Given the description of an element on the screen output the (x, y) to click on. 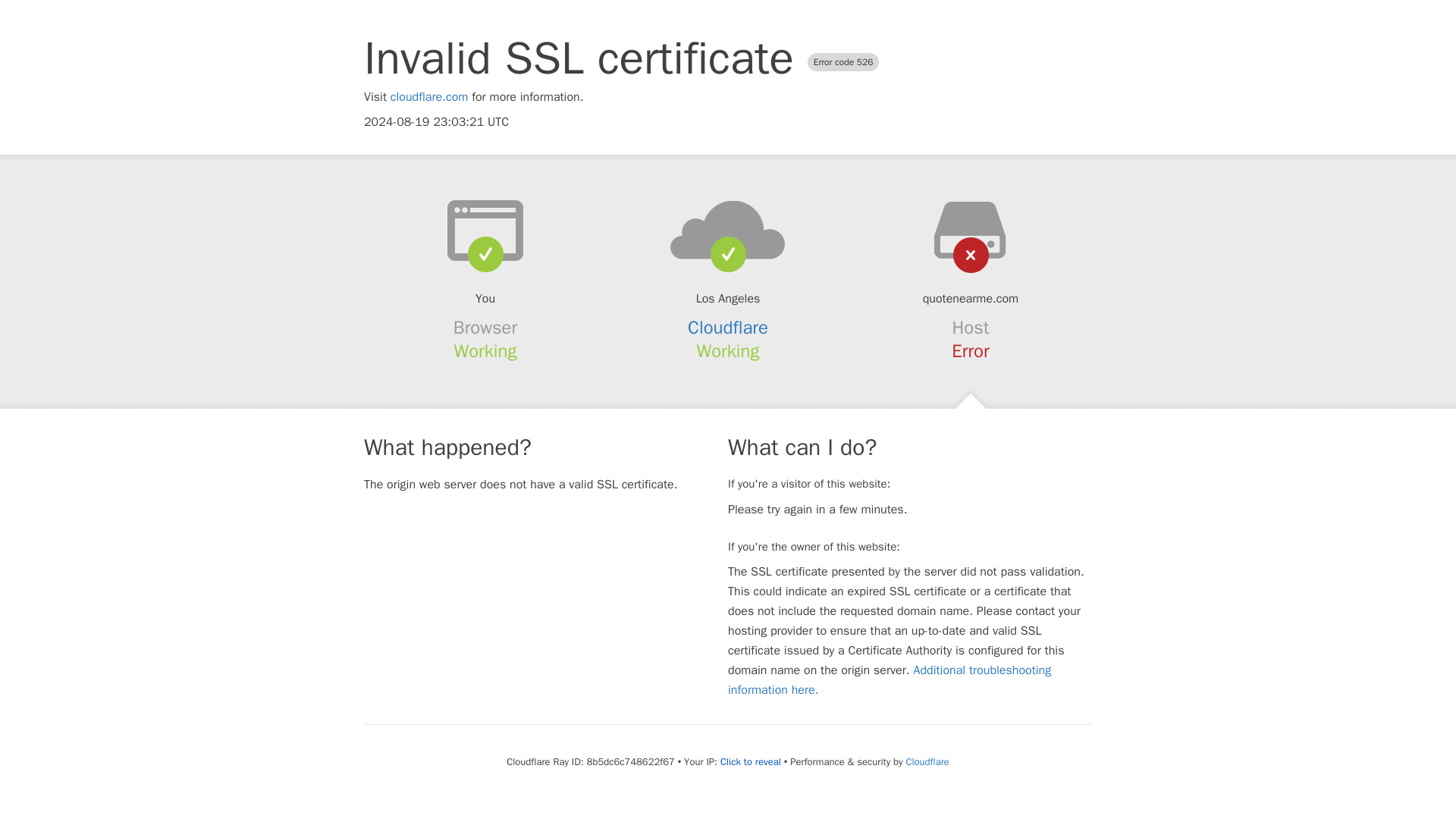
Additional troubleshooting information here. (889, 679)
Cloudflare (727, 327)
cloudflare.com (429, 96)
Click to reveal (750, 762)
Cloudflare (927, 761)
